Given the description of an element on the screen output the (x, y) to click on. 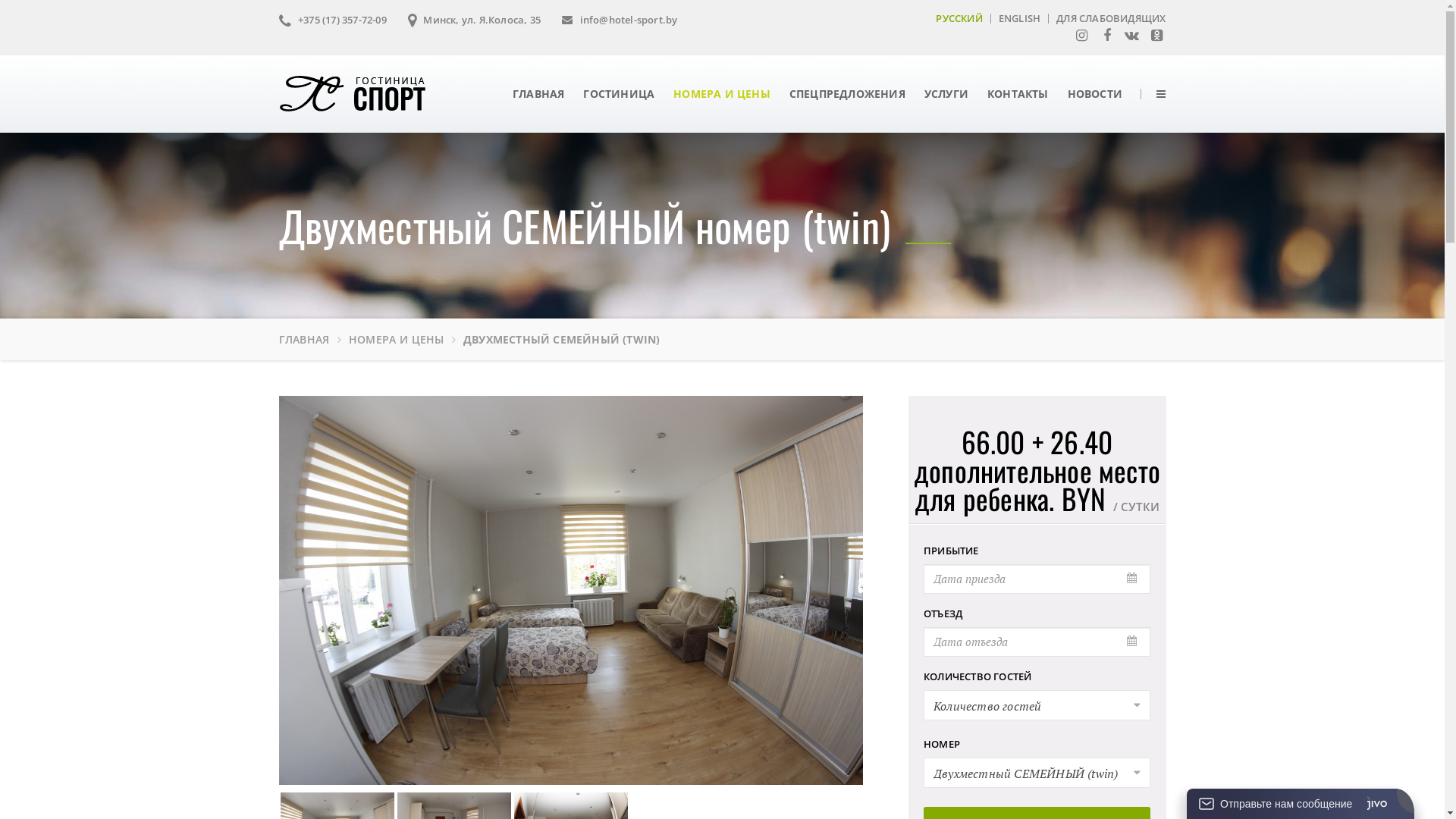
info@hotel-sport.by Element type: text (619, 18)
ENGLISH Element type: text (1019, 17)
Pick a date Element type: text (1132, 578)
Pick a date Element type: text (1132, 641)
+375 (17) 357-72-09 Element type: text (332, 18)
